Given the description of an element on the screen output the (x, y) to click on. 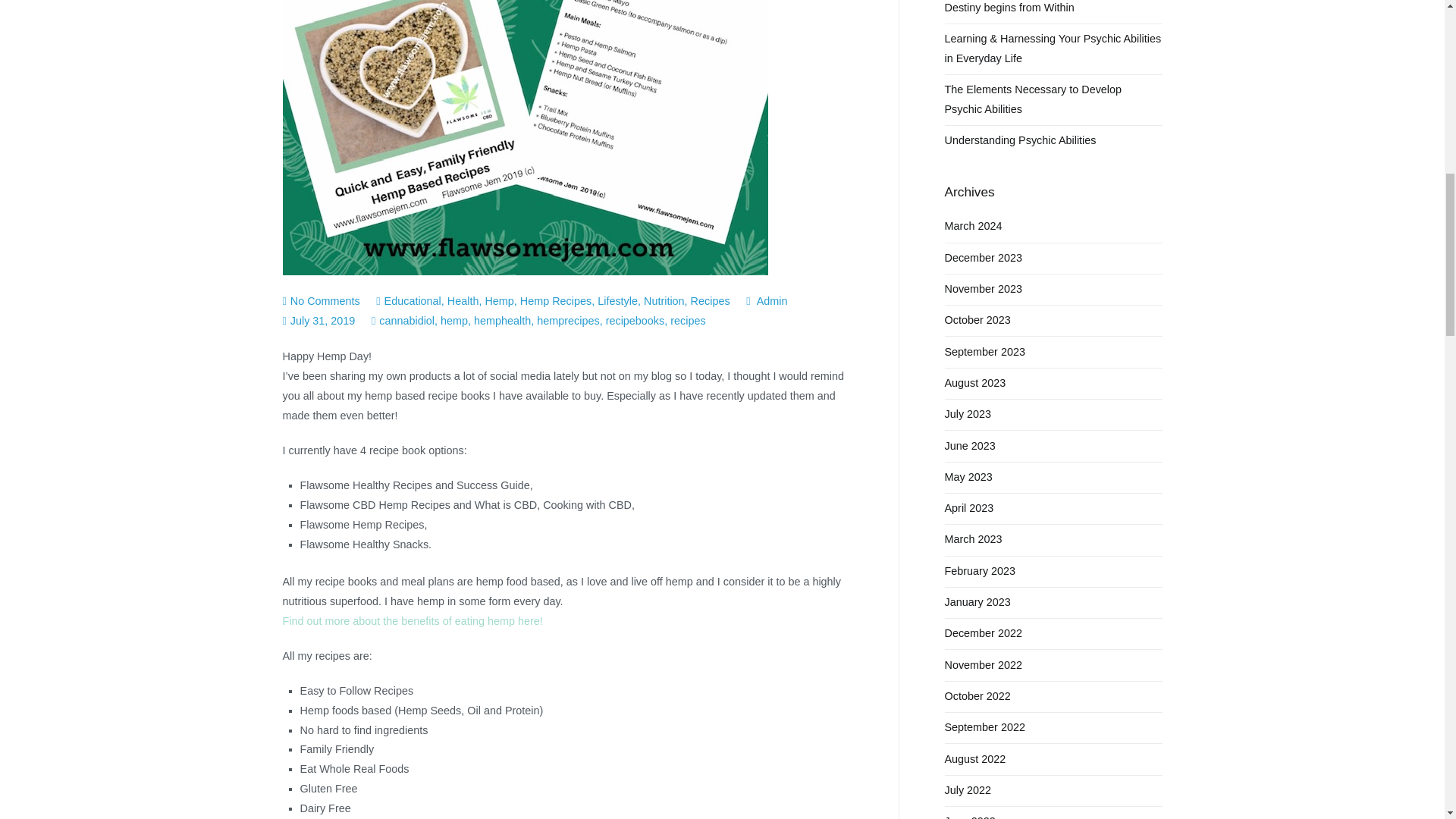
cannabidiol (405, 320)
Hemp Recipes (555, 300)
Health (462, 300)
Nutrition (663, 300)
Educational (324, 300)
Admin (412, 300)
July 31, 2019 (772, 300)
Hemp (322, 320)
Lifestyle (498, 300)
